Given the description of an element on the screen output the (x, y) to click on. 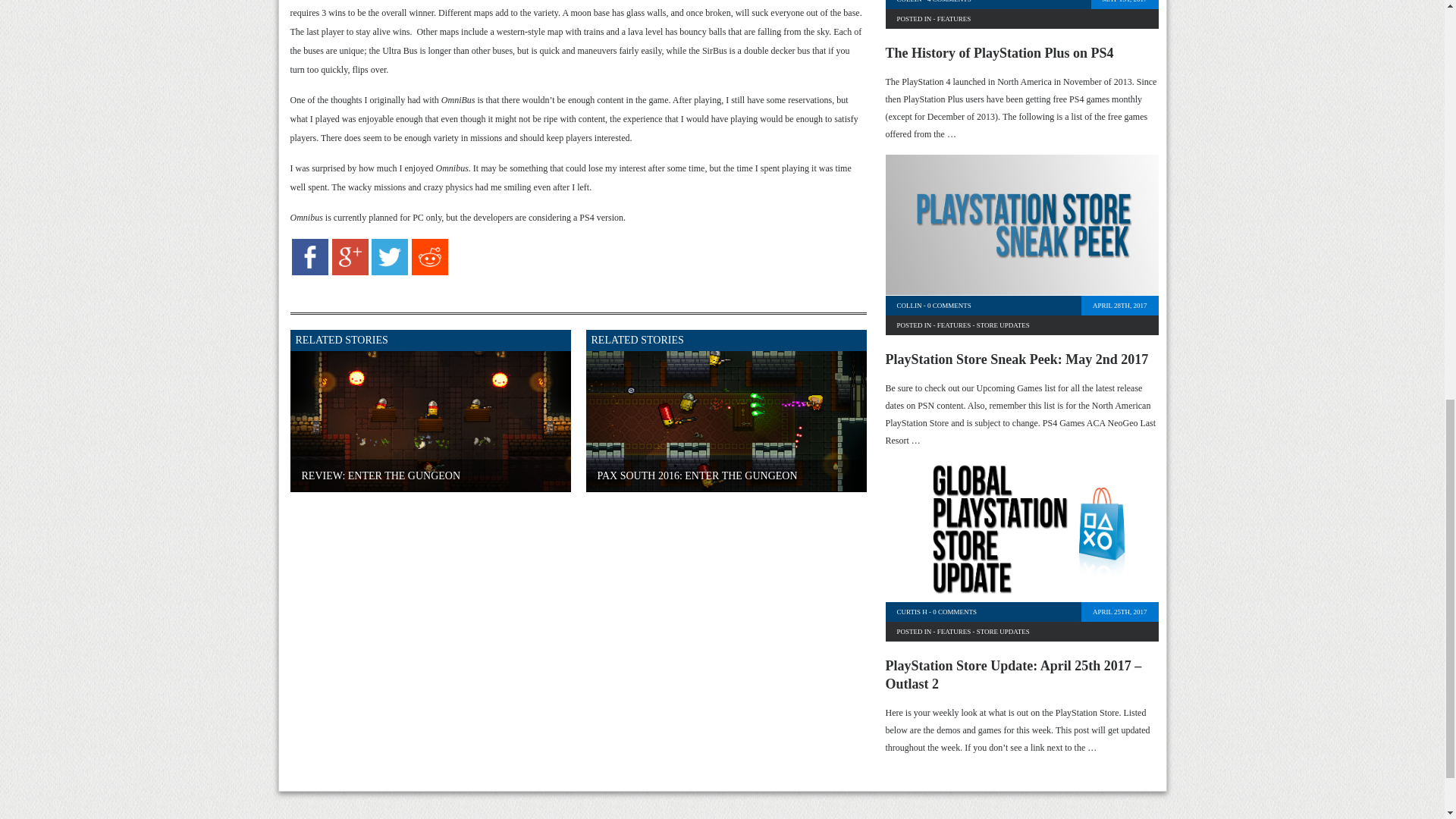
Share via Google (349, 271)
Share via Twitter (389, 271)
Share via Facebook (310, 271)
Posts by Collin (908, 305)
Posts by Curtis H (911, 611)
Share via Reddit (430, 271)
Posts by Collin (908, 1)
